Given the description of an element on the screen output the (x, y) to click on. 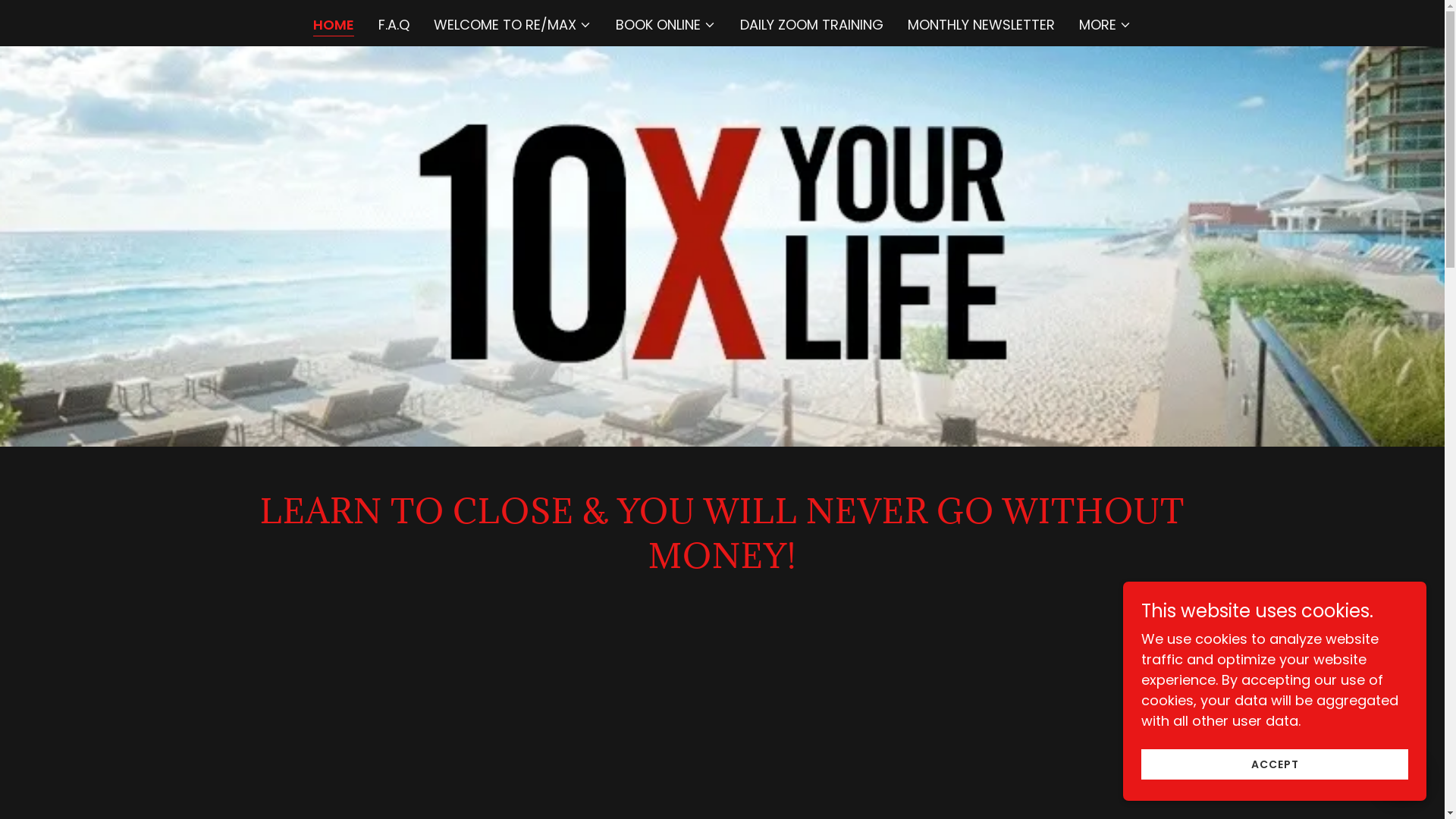
MORE Element type: text (1105, 24)
WELCOME TO RE/MAX Element type: text (512, 24)
ACCEPT Element type: text (1274, 764)
HOME Element type: text (333, 25)
BOOK ONLINE Element type: text (665, 24)
DAILY ZOOM TRAINING Element type: text (811, 24)
MONTHLY NEWSLETTER Element type: text (981, 24)
F.A.Q Element type: text (393, 24)
